Given the description of an element on the screen output the (x, y) to click on. 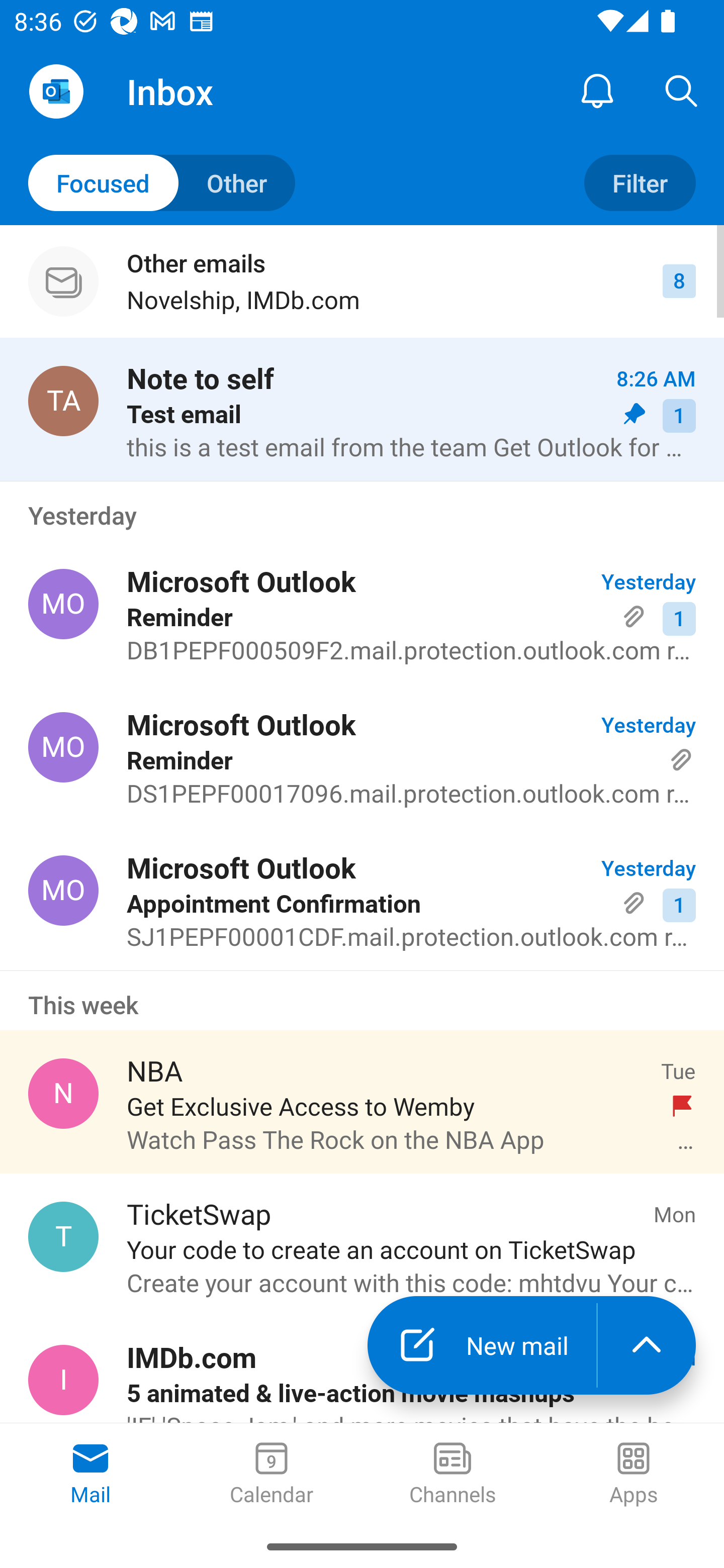
Notification Center (597, 90)
Search, ,  (681, 90)
Open Navigation Drawer (55, 91)
Toggle to other mails (161, 183)
Filter (639, 183)
Other emails Novelship, IMDb.com 8 (362, 281)
Test Appium, testappium002@outlook.com (63, 400)
NBA, NBA@email.nba.com (63, 1093)
TicketSwap, info@ticketswap.com (63, 1236)
New mail (481, 1344)
launch the extended action menu (646, 1344)
IMDb.com, do-not-reply@imdb.com (63, 1380)
Calendar (271, 1474)
Channels (452, 1474)
Apps (633, 1474)
